Given the description of an element on the screen output the (x, y) to click on. 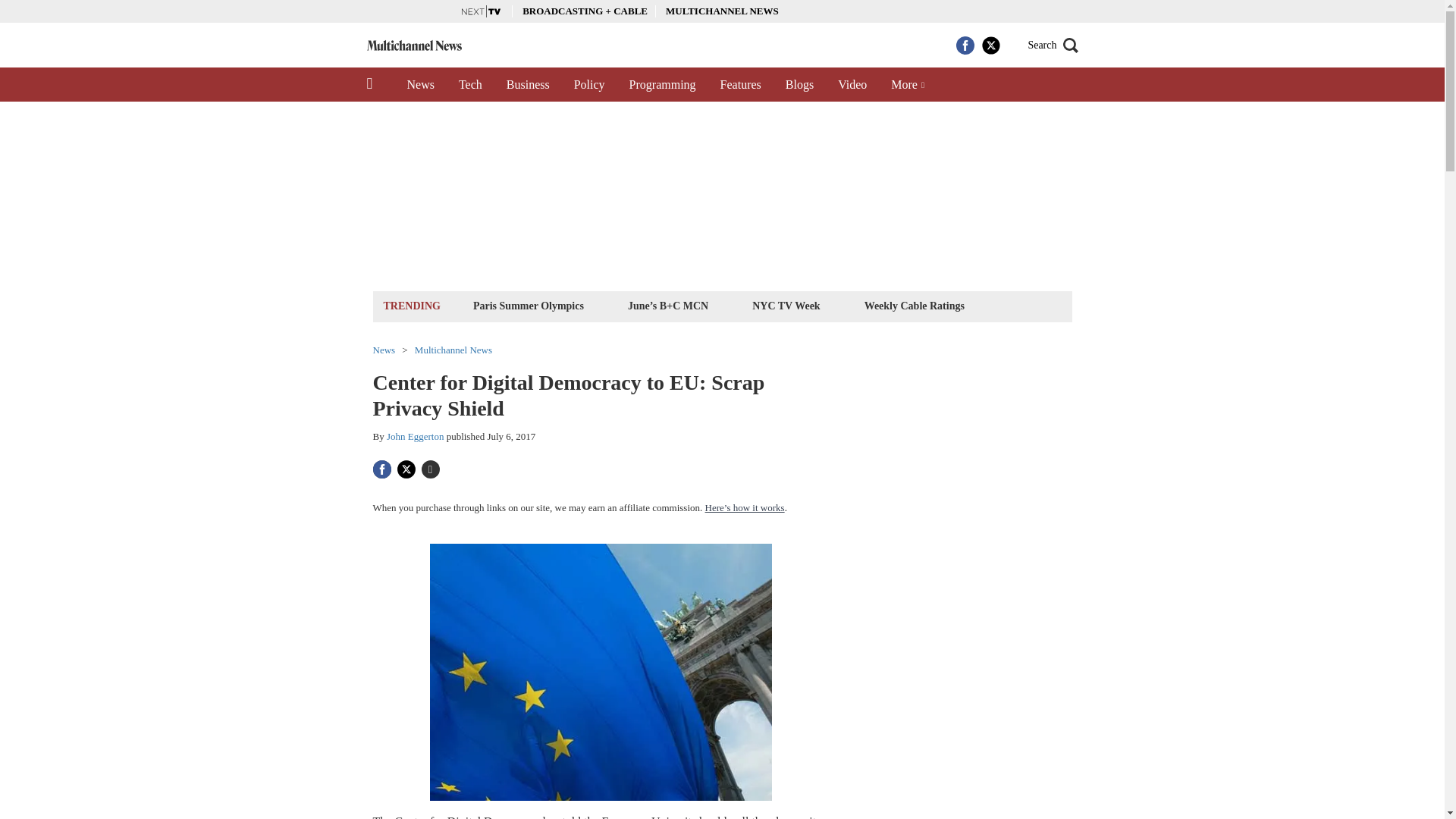
Multichannel News (453, 349)
Features (740, 84)
News (419, 84)
John Eggerton (415, 436)
NYC TV Week (785, 305)
Paris Summer Olympics (528, 305)
Tech (470, 84)
Policy (589, 84)
Business (528, 84)
Blogs (799, 84)
